Given the description of an element on the screen output the (x, y) to click on. 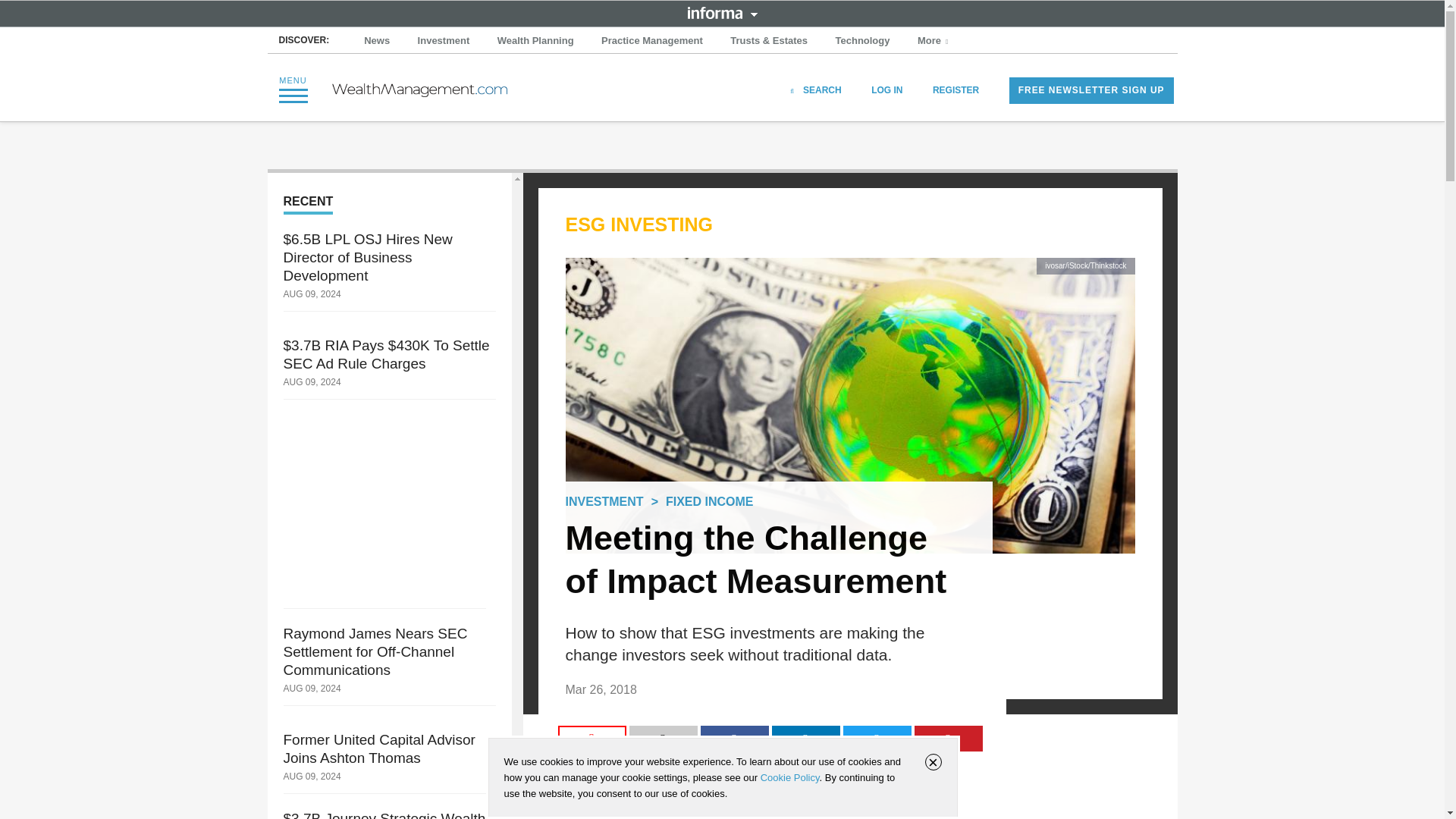
Wealth Planning (535, 41)
News (377, 41)
More (934, 41)
Cookie Policy (789, 777)
Investment (444, 41)
INFORMA (722, 12)
Practice Management (652, 41)
Technology (862, 41)
